Given the description of an element on the screen output the (x, y) to click on. 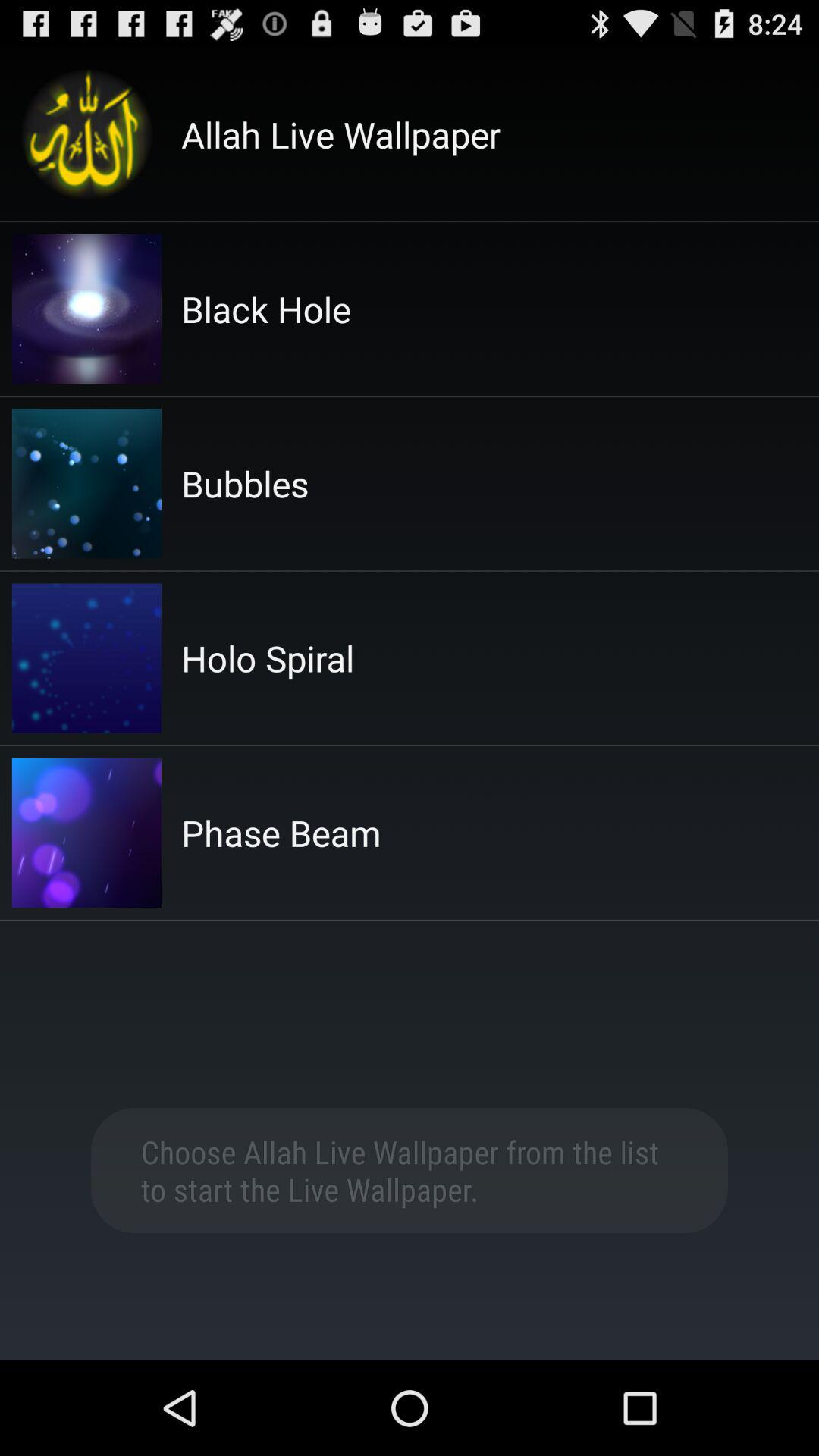
choose the app below allah live wallpaper item (265, 308)
